Given the description of an element on the screen output the (x, y) to click on. 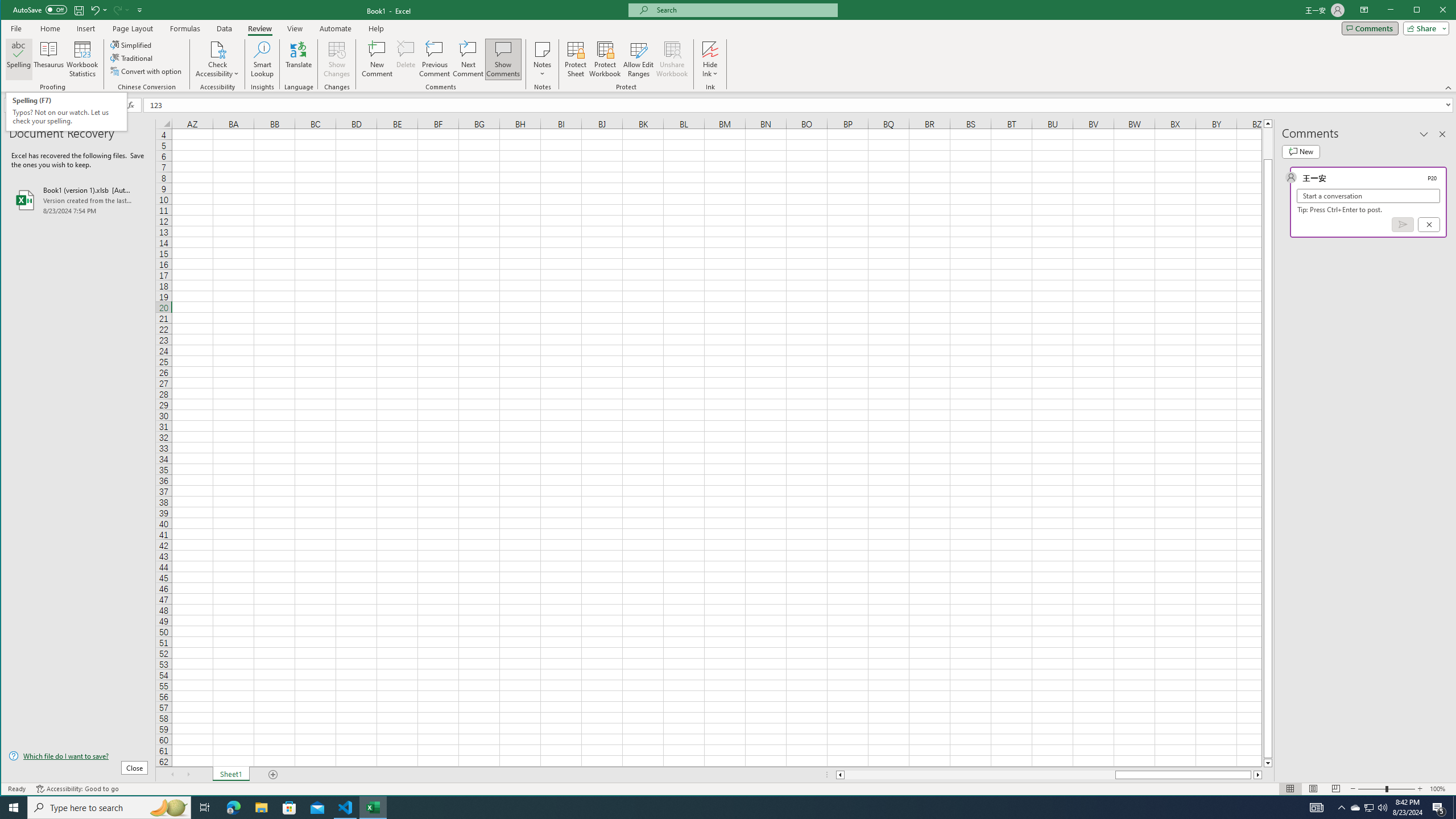
Microsoft Store (289, 807)
Q2790: 100% (1382, 807)
Type here to search (108, 807)
Check Accessibility (1368, 807)
